Given the description of an element on the screen output the (x, y) to click on. 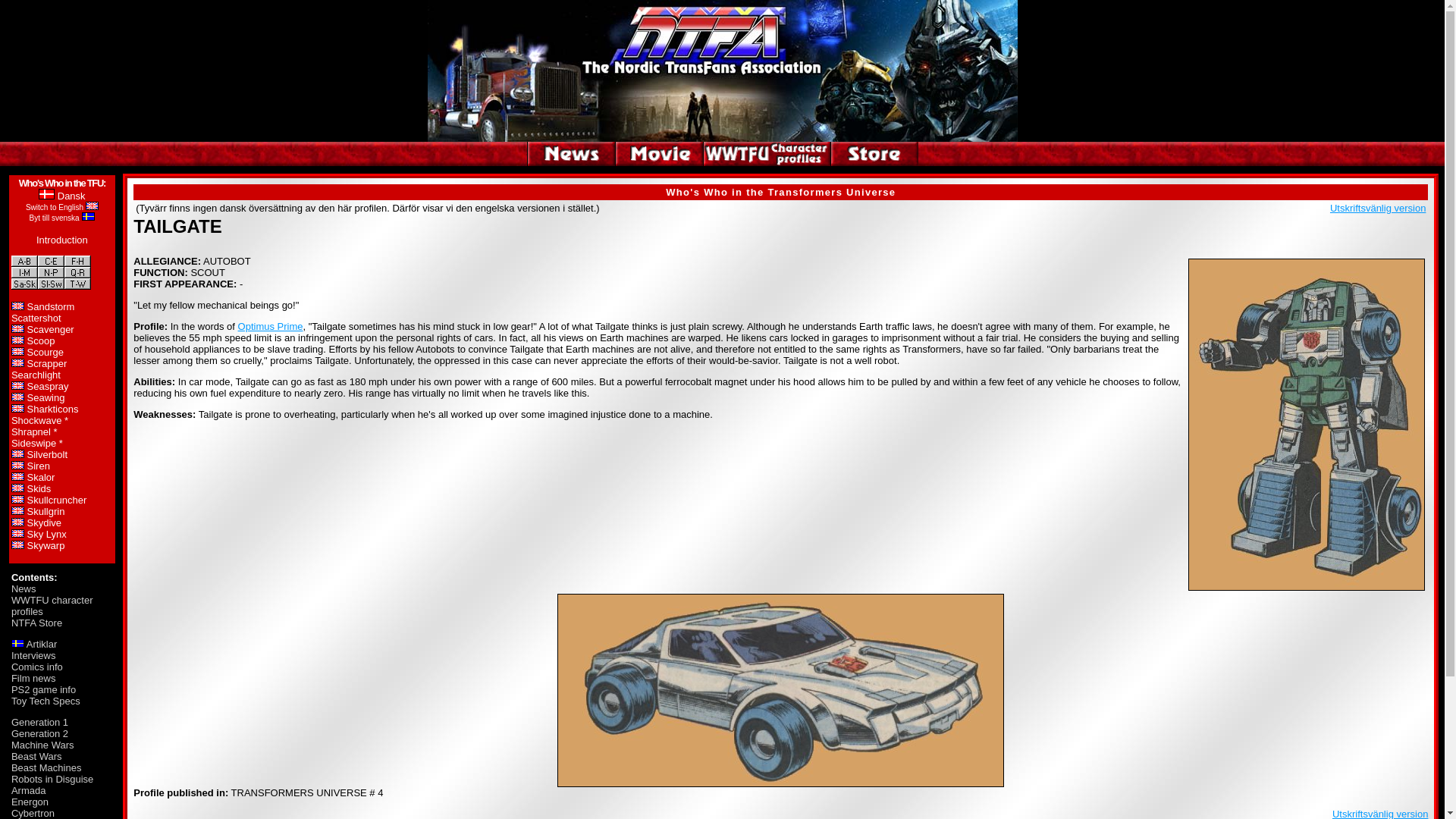
Shockwave (36, 419)
WWTFU character profiles (52, 605)
Scattershot (36, 317)
News (23, 588)
Silverbolt (46, 454)
Searchlight (36, 374)
Scourge (45, 351)
Scoop (41, 340)
Shrapnel (30, 431)
Introduction (61, 239)
Skywarp (46, 545)
Skullcruncher (57, 500)
Switch to English (54, 207)
Scavenger (50, 328)
Scrapper (46, 363)
